Given the description of an element on the screen output the (x, y) to click on. 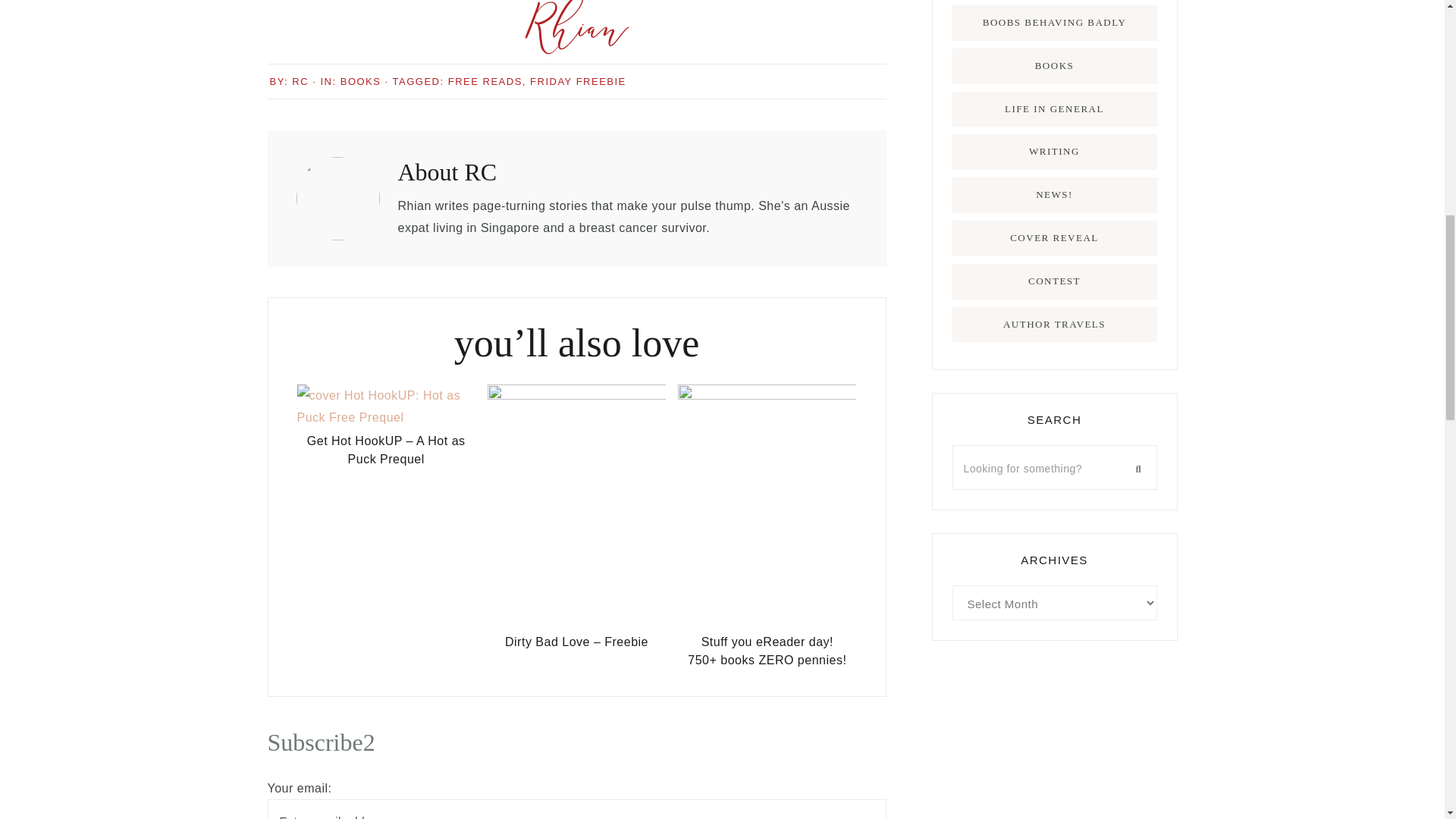
Enter email address... (575, 809)
